Given the description of an element on the screen output the (x, y) to click on. 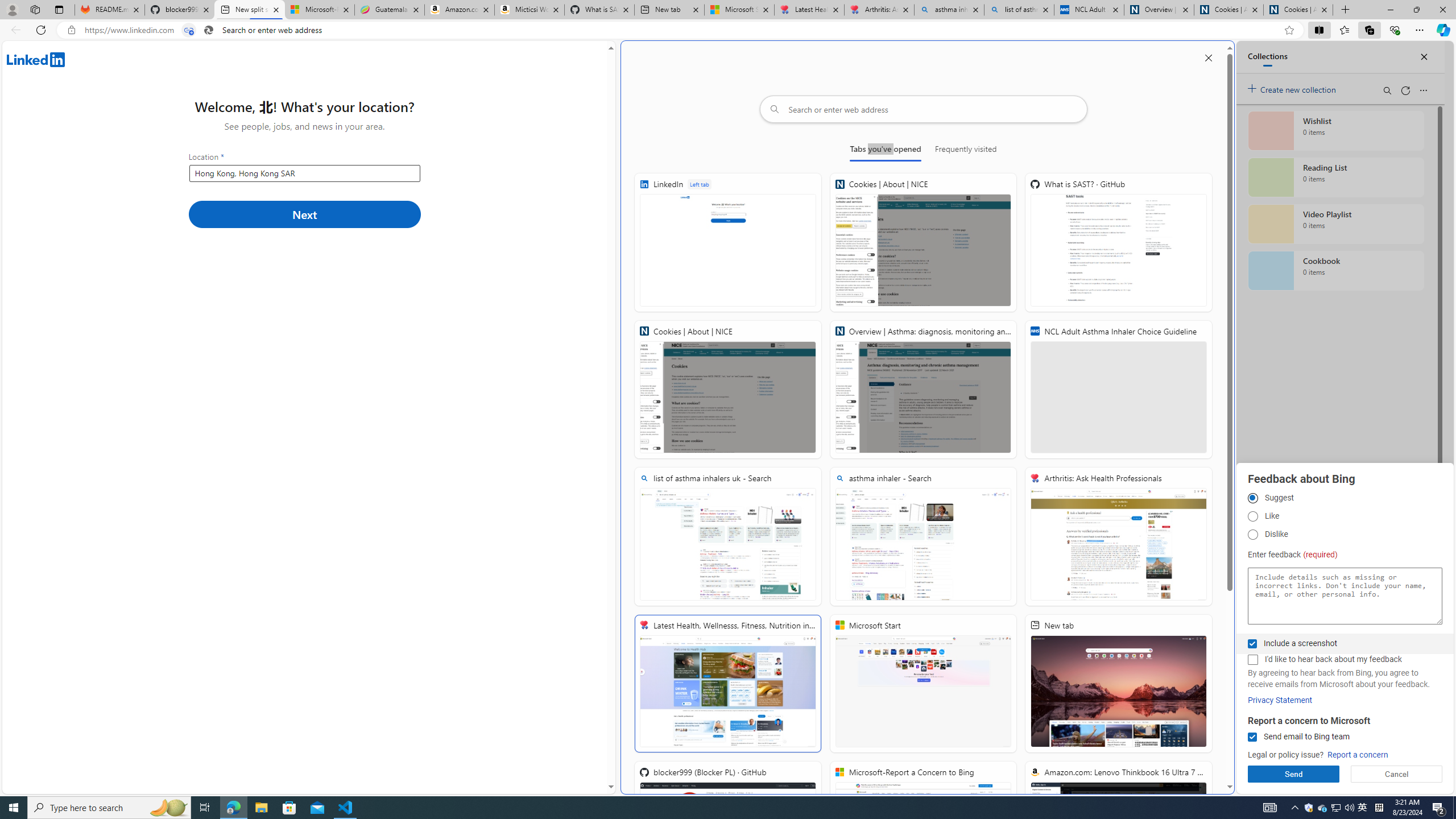
Cookies | About | NICE (1297, 9)
Suggest (1252, 498)
NCL Adult Asthma Inhaler Choice Guideline (1118, 389)
Tabs you've opened (885, 151)
